Given the description of an element on the screen output the (x, y) to click on. 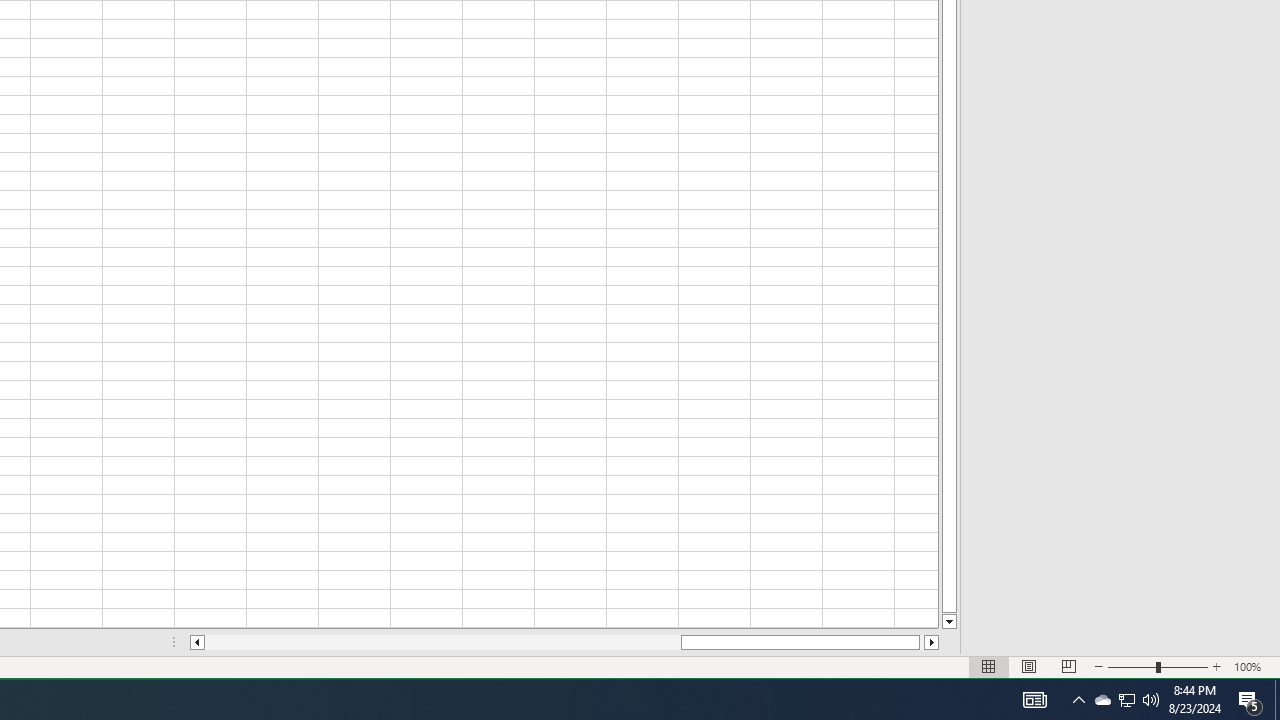
AutomationID: 4105 (1034, 699)
